Given the description of an element on the screen output the (x, y) to click on. 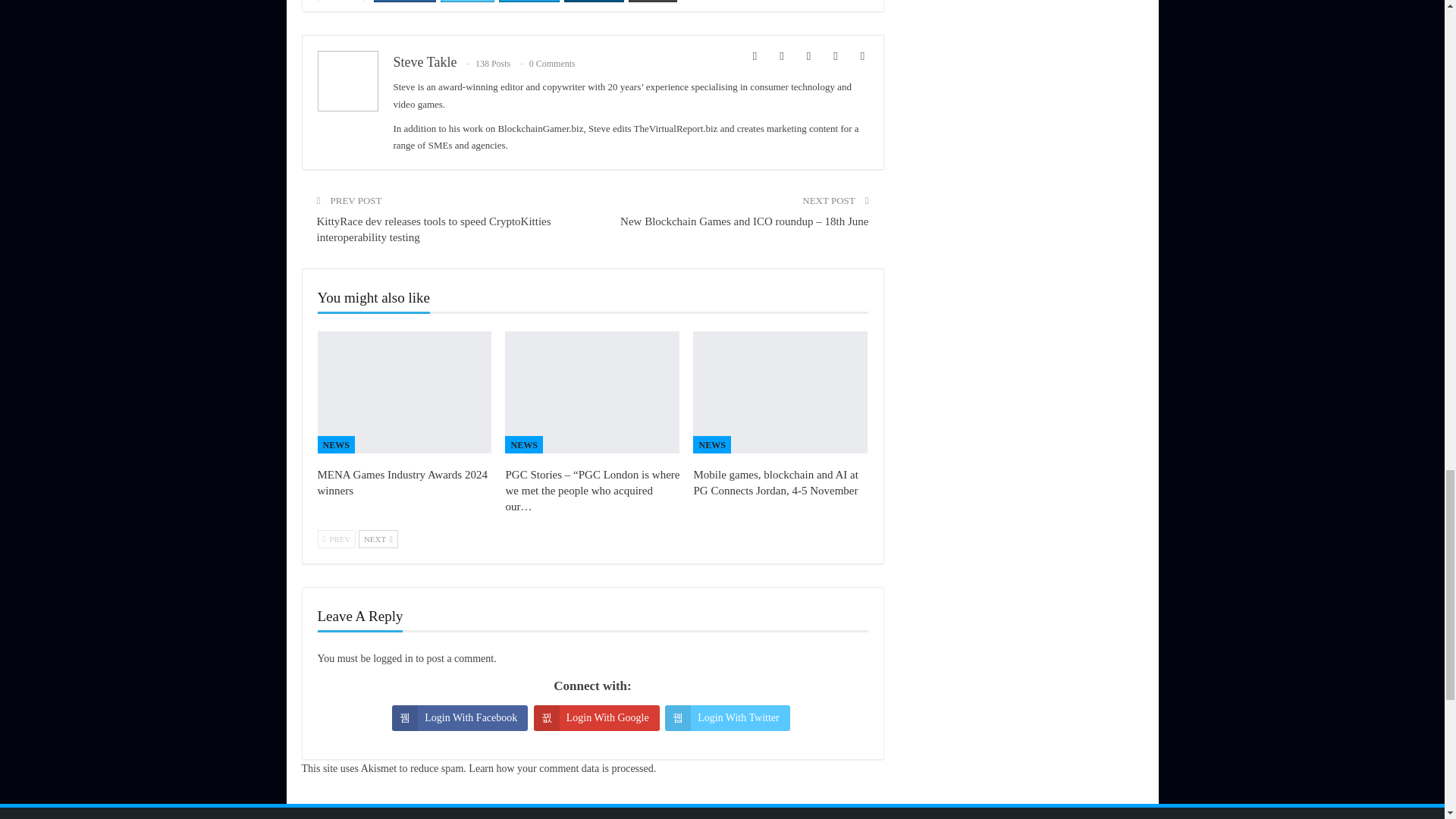
Next (377, 538)
Email (653, 0)
Twitter (467, 0)
MENA Games Industry Awards 2024 winners (401, 482)
MENA Games Industry Awards 2024 winners (404, 392)
Steve Takle (425, 61)
Previous (336, 538)
Linkedin (594, 0)
